Given the description of an element on the screen output the (x, y) to click on. 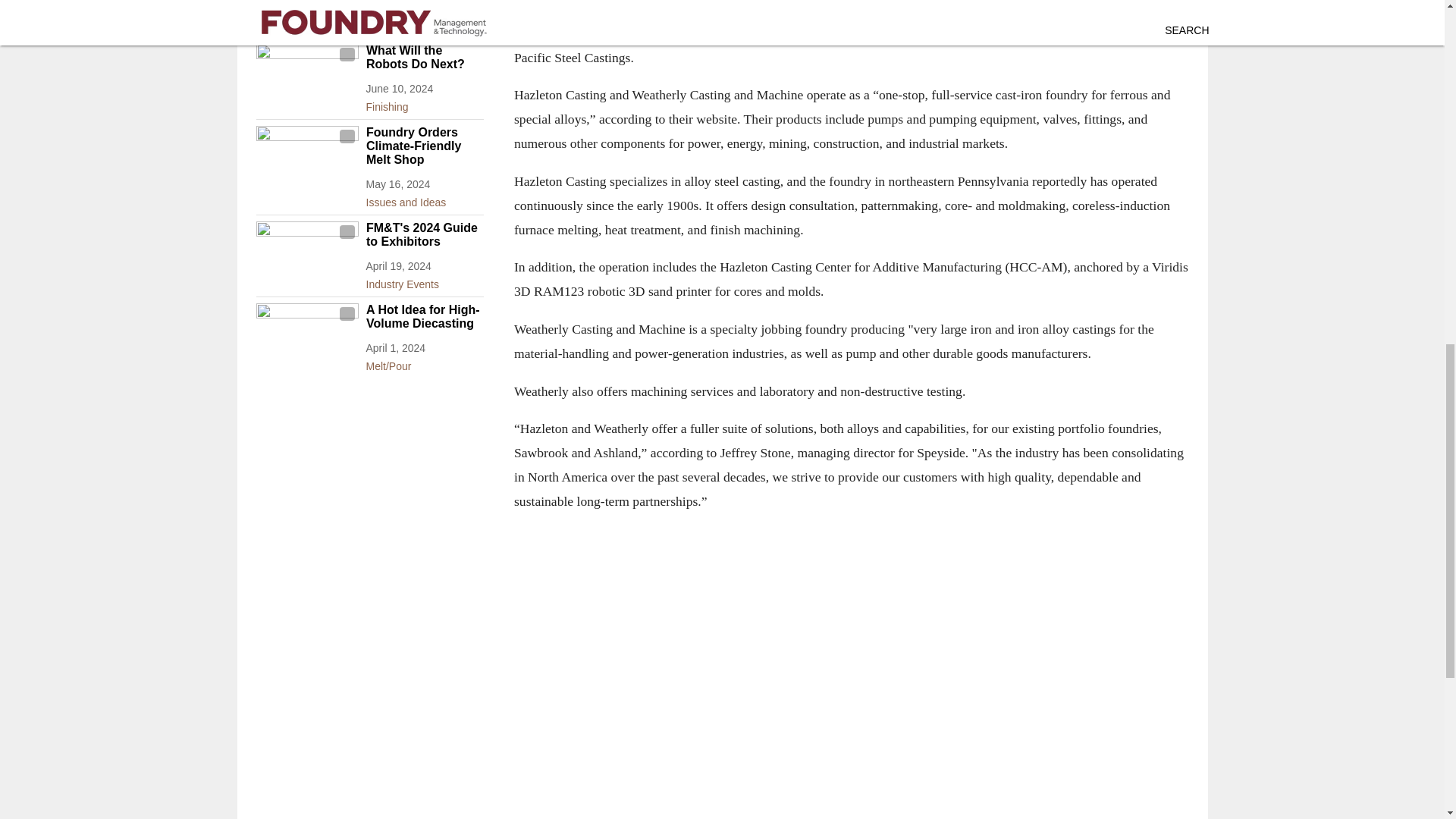
Finishing (424, 104)
A Hot Idea for High-Volume Diecasting (424, 316)
Issues and Ideas (424, 22)
Issues and Ideas (424, 199)
Foundry Orders Climate-Friendly Melt Shop (424, 146)
What Will the Robots Do Next? (424, 57)
Industry Events (424, 280)
